Given the description of an element on the screen output the (x, y) to click on. 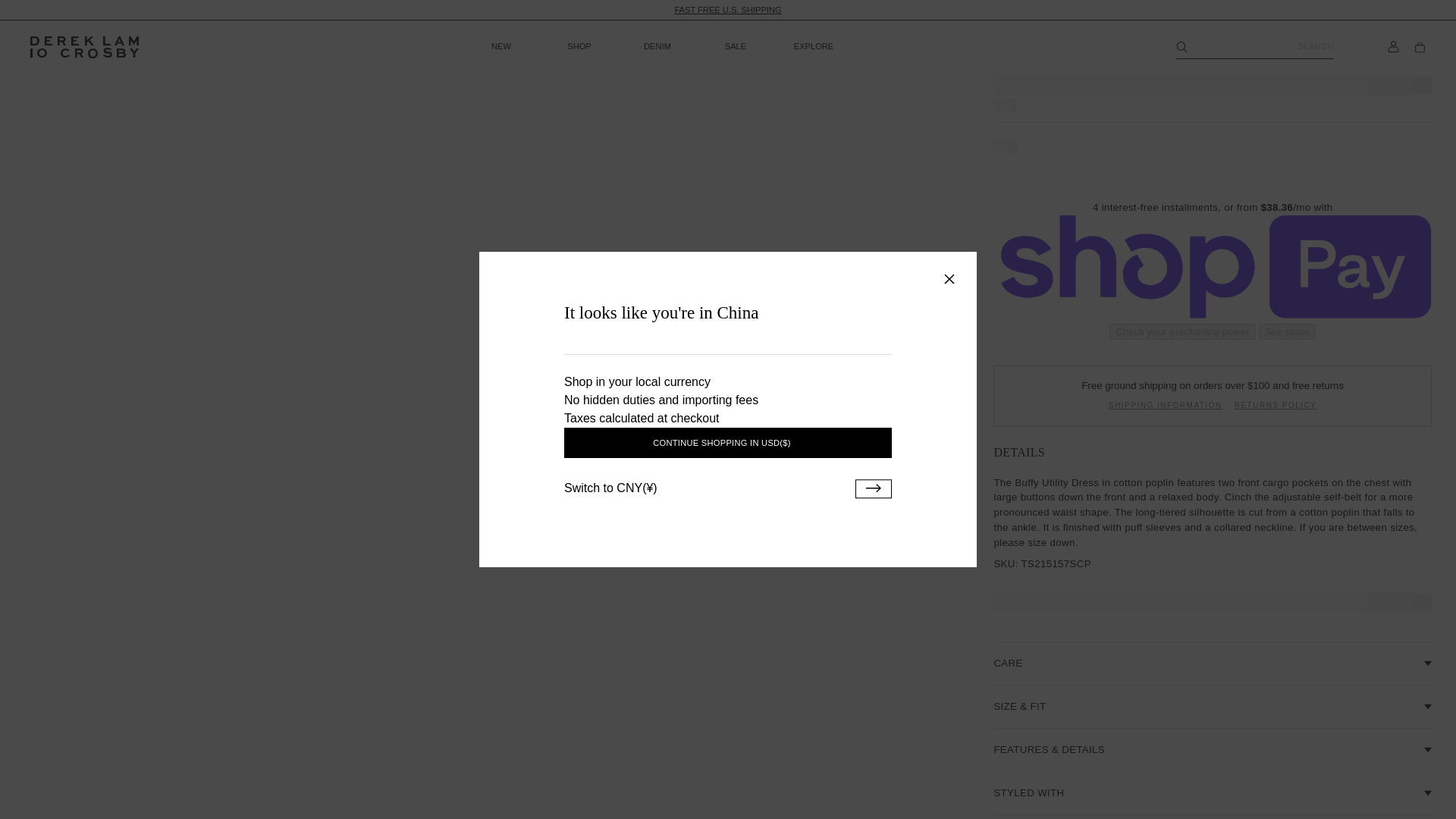
Derek Lam (84, 47)
FAST FREE U.S. SHIPPING (727, 9)
Shop All (727, 9)
EXPLORE (813, 46)
SALE (735, 46)
NEW (500, 46)
DENIM (657, 46)
SHOP (579, 46)
